Given the description of an element on the screen output the (x, y) to click on. 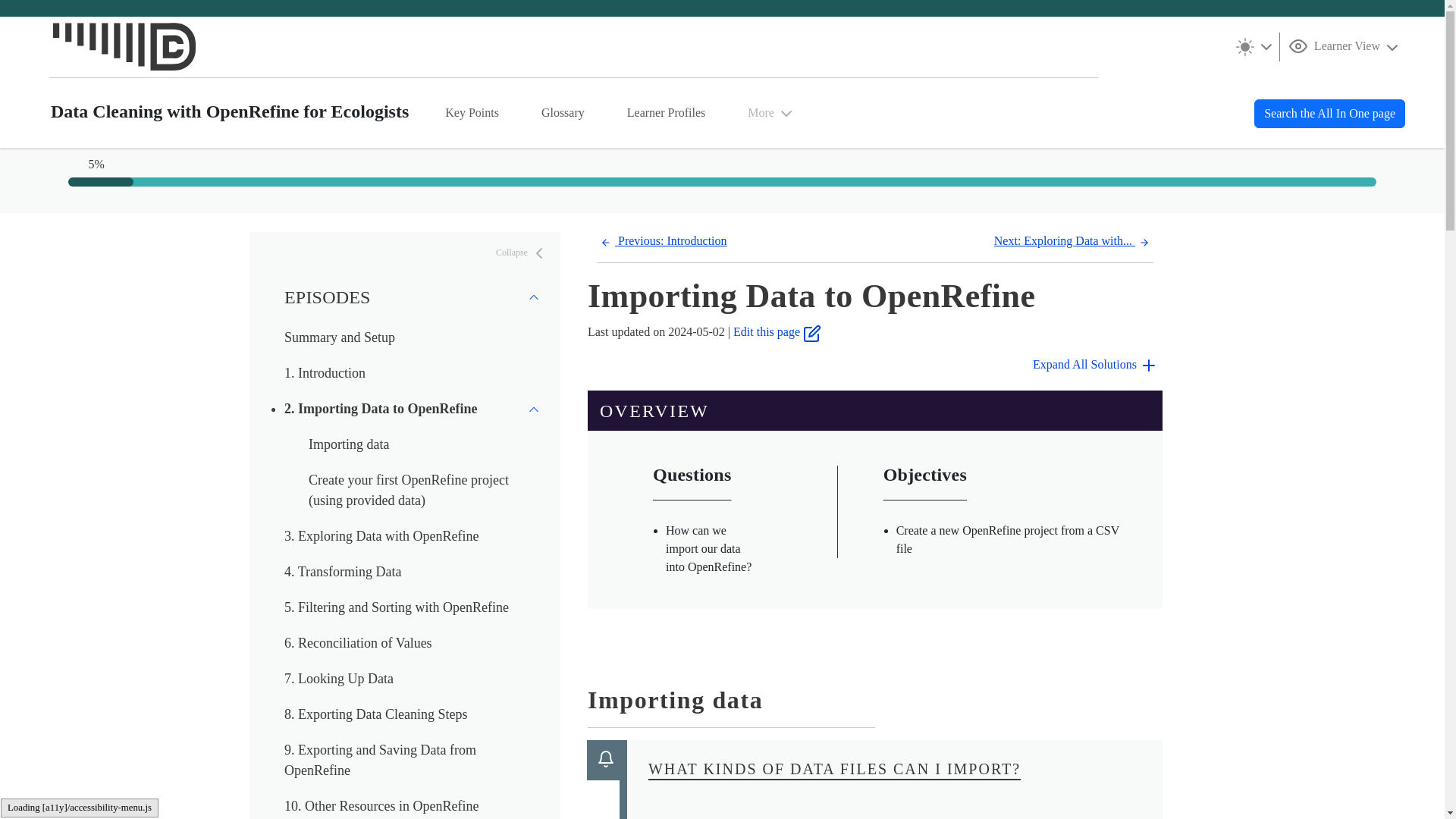
7. Looking Up Data (338, 678)
Learner View (1344, 46)
Importing data (348, 444)
10. Other Resources in OpenRefine (381, 806)
Collapse (412, 408)
3. Exploring Data with OpenRefine (522, 252)
5. Filtering and Sorting with OpenRefine (381, 535)
More (395, 607)
Skip to main content (771, 112)
